Given the description of an element on the screen output the (x, y) to click on. 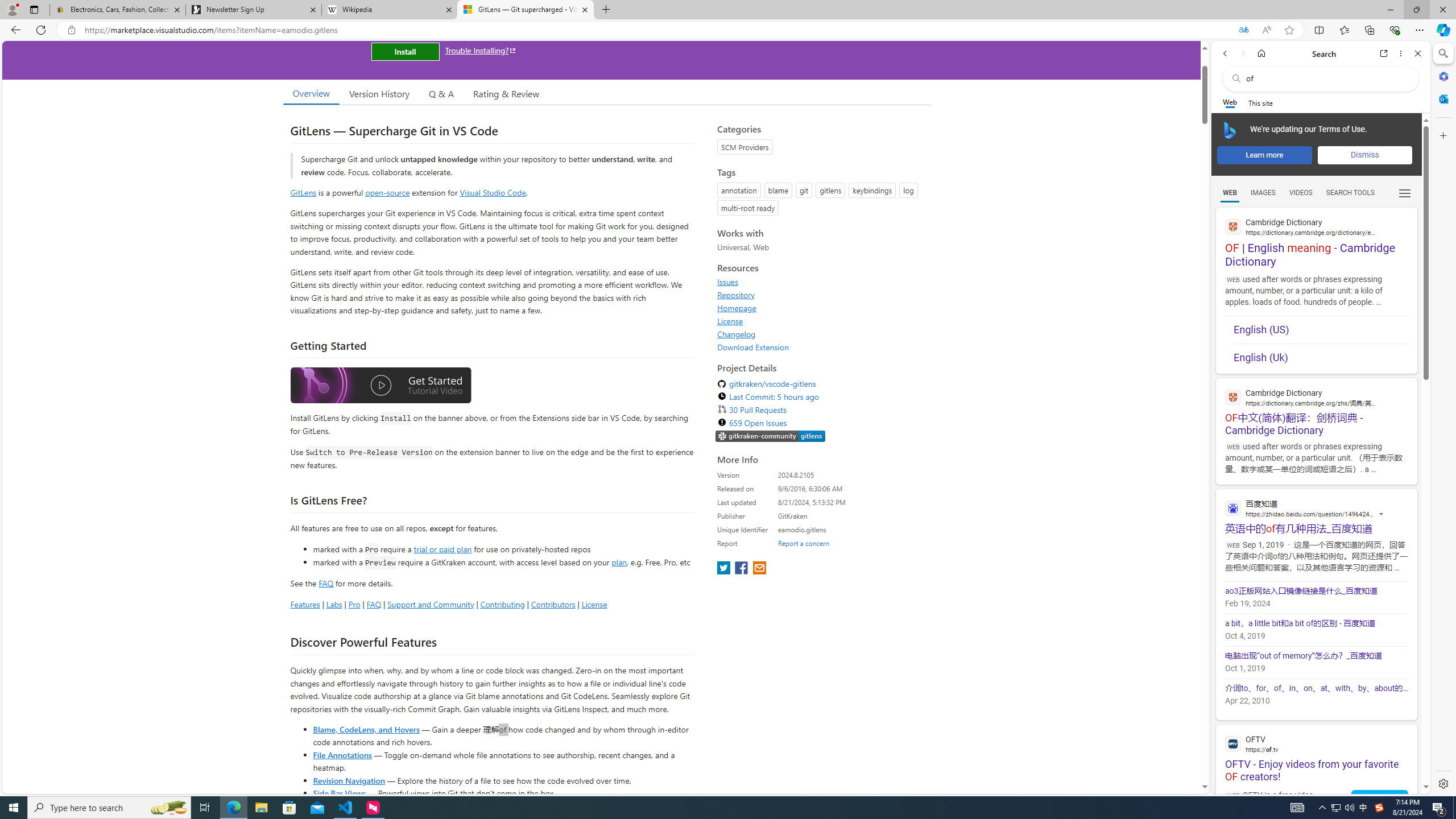
OFTV - Enjoy videos from your favorite OF creators! (1315, 753)
Learn more (1264, 154)
https://slack.gitkraken.com// (769, 436)
Translated (1243, 29)
